Given the description of an element on the screen output the (x, y) to click on. 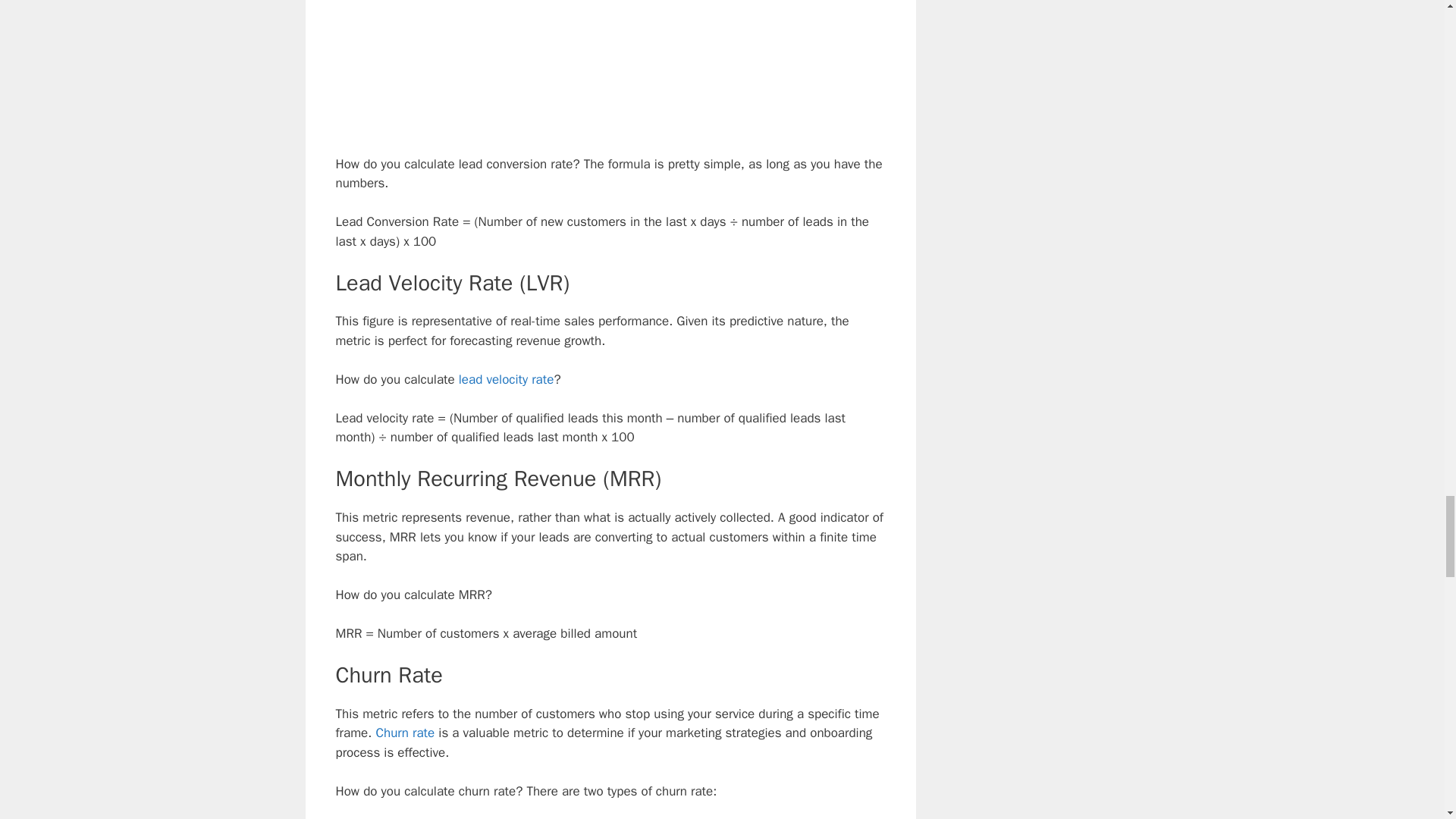
Churn rate (404, 732)
lead velocity rate (506, 379)
